Given the description of an element on the screen output the (x, y) to click on. 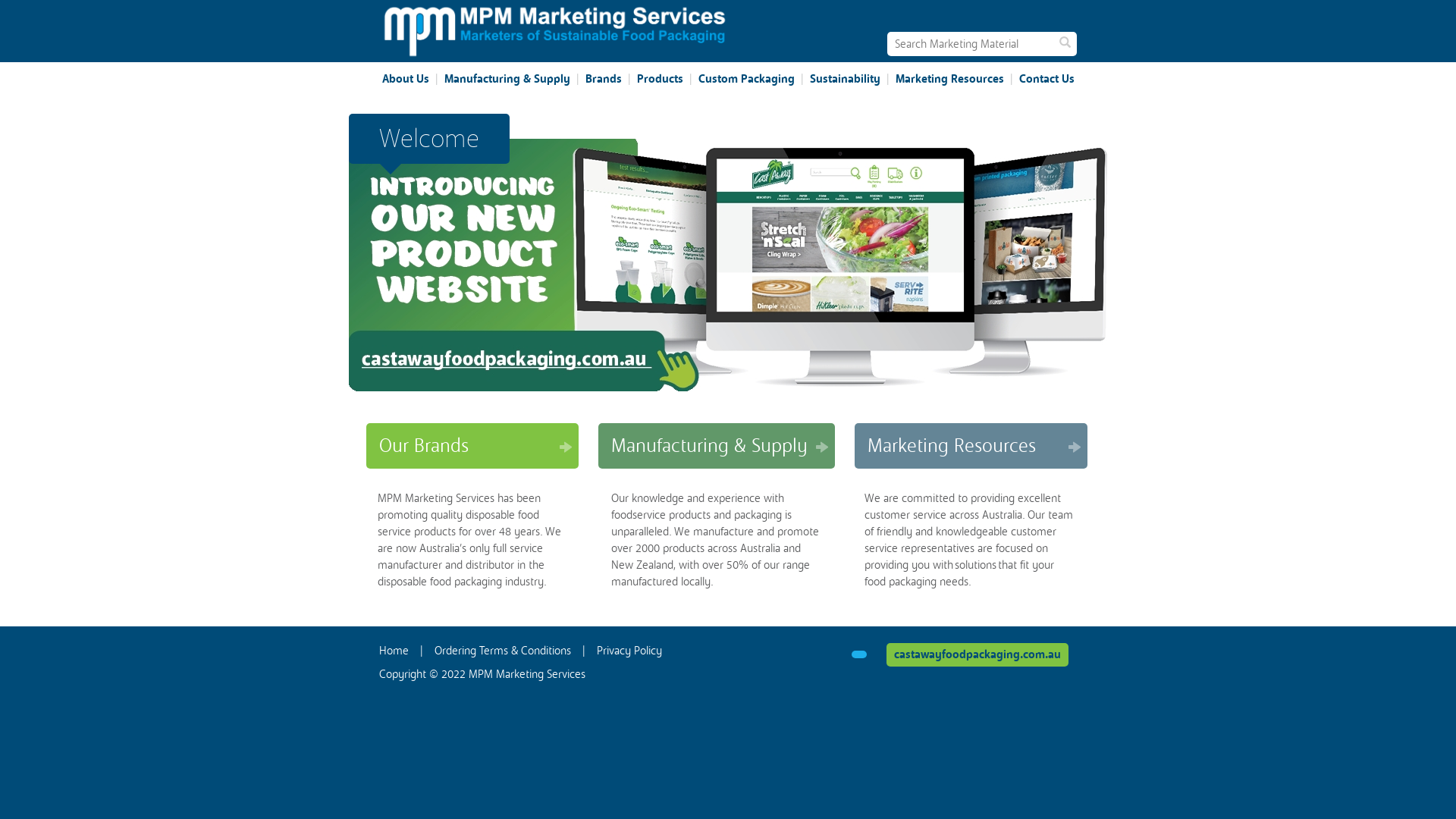
About Us Element type: text (405, 78)
Marketing Resources Element type: text (948, 78)
Our Brands Element type: text (472, 445)
Manufacturing & Supply Element type: text (716, 445)
Go Element type: text (1064, 43)
Marketing Resources Element type: text (970, 445)
Ordering Terms & Conditions Element type: text (502, 650)
Custom Packaging Element type: text (745, 78)
castawayfoodpackaging.com.au Element type: text (977, 654)
Privacy Policy Element type: text (629, 650)
Products Element type: text (660, 78)
Sustainability Element type: text (844, 78)
Contact Us Element type: text (1046, 78)
Brands Element type: text (603, 78)
Manufacturing & Supply Element type: text (507, 78)
Home Element type: text (393, 650)
